Given the description of an element on the screen output the (x, y) to click on. 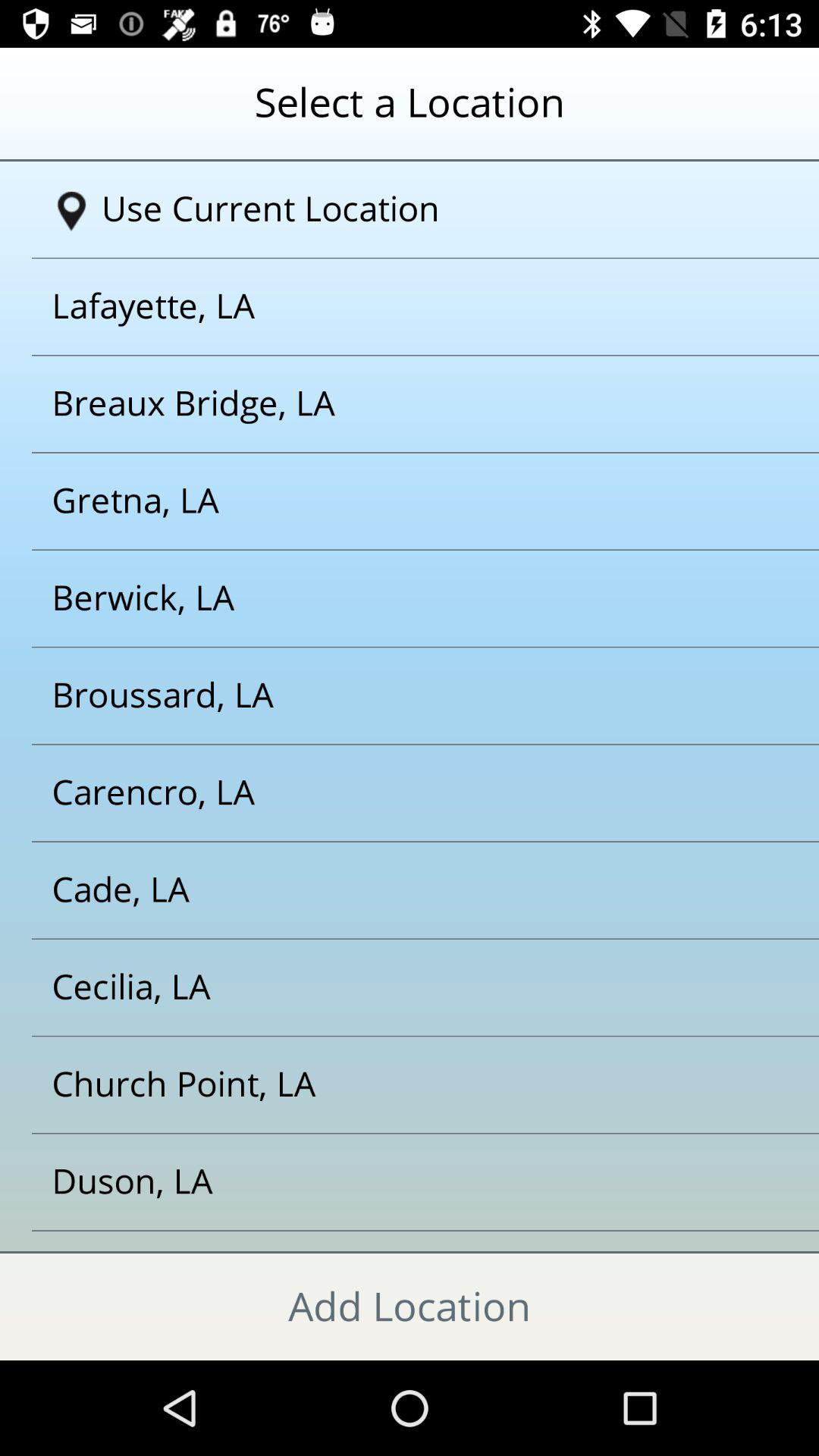
select eighth option (390, 891)
